Given the description of an element on the screen output the (x, y) to click on. 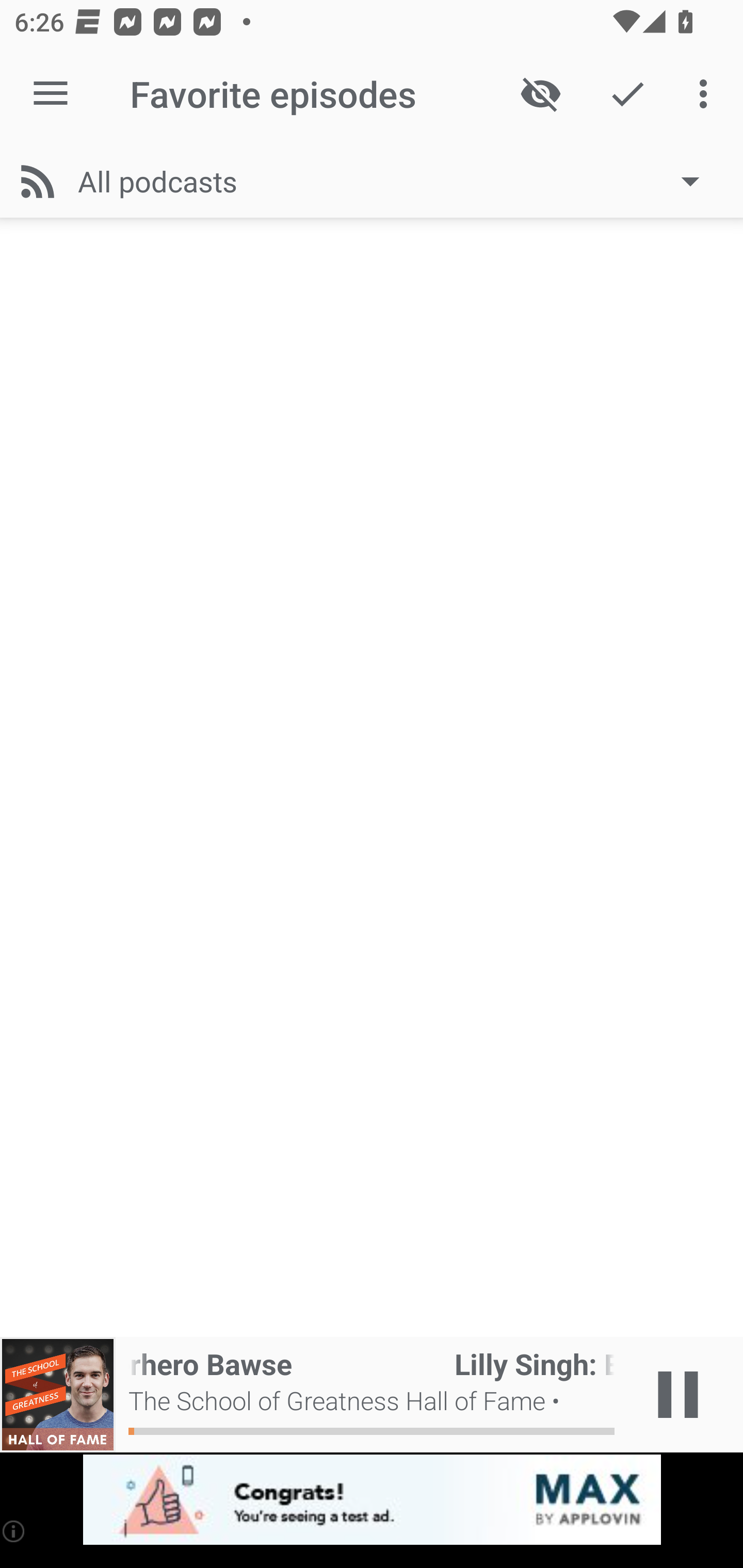
Open navigation sidebar (50, 93)
Show / Hide played content (540, 93)
Action Mode (626, 93)
More options (706, 93)
All podcasts (398, 180)
Play / Pause (677, 1394)
app-monetization (371, 1500)
(i) (14, 1531)
